Given the description of an element on the screen output the (x, y) to click on. 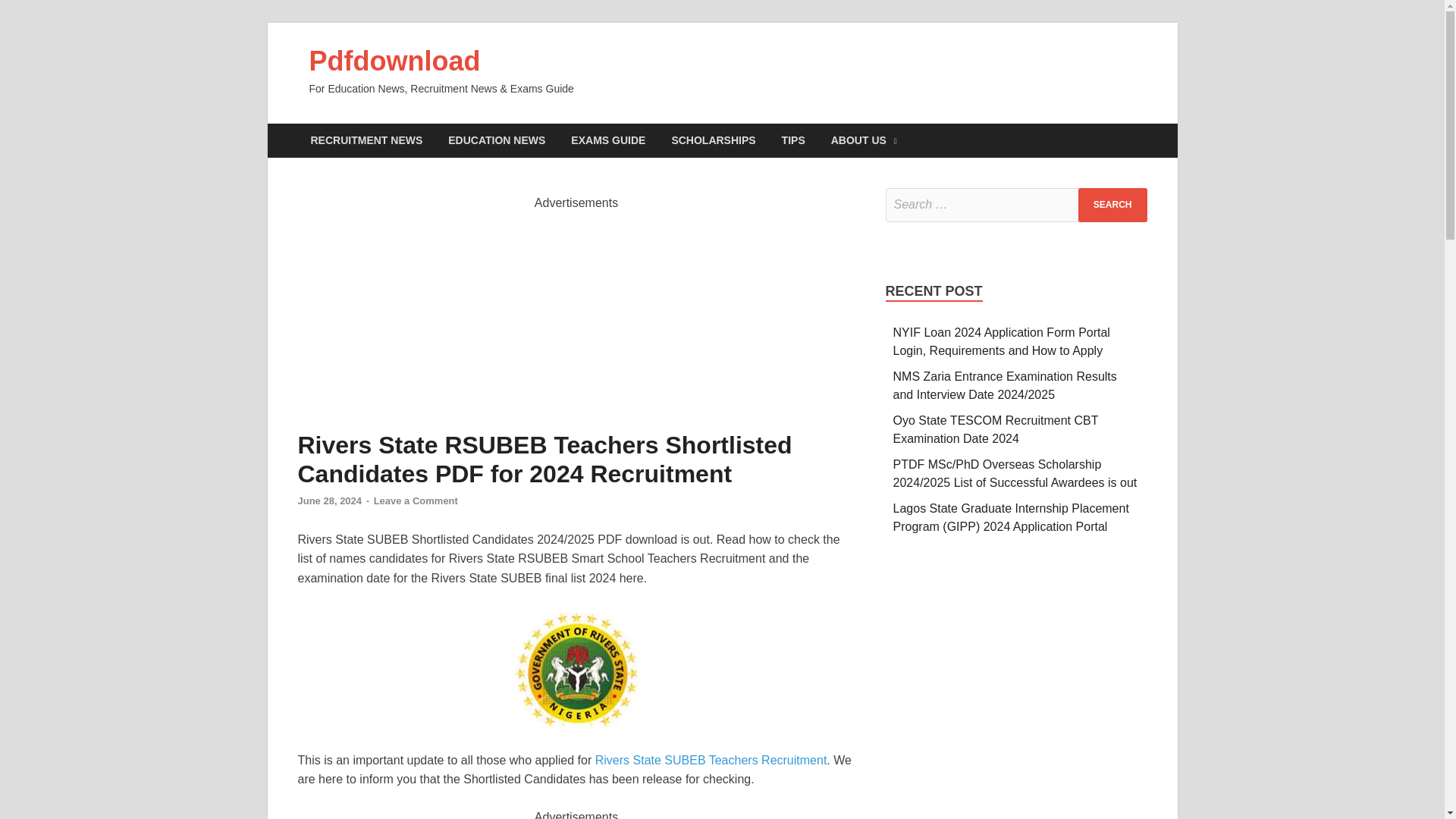
ABOUT US (864, 140)
Leave a Comment (416, 500)
June 28, 2024 (329, 500)
EXAMS GUIDE (607, 140)
TIPS (793, 140)
EDUCATION NEWS (496, 140)
SCHOLARSHIPS (713, 140)
Search (1112, 204)
Search (1112, 204)
Oyo State TESCOM Recruitment CBT Examination Date 2024 (996, 429)
RECRUITMENT NEWS (366, 140)
Search (1112, 204)
Advertisement (575, 318)
Rivers State SUBEB Teachers Recruitment (711, 759)
